Given the description of an element on the screen output the (x, y) to click on. 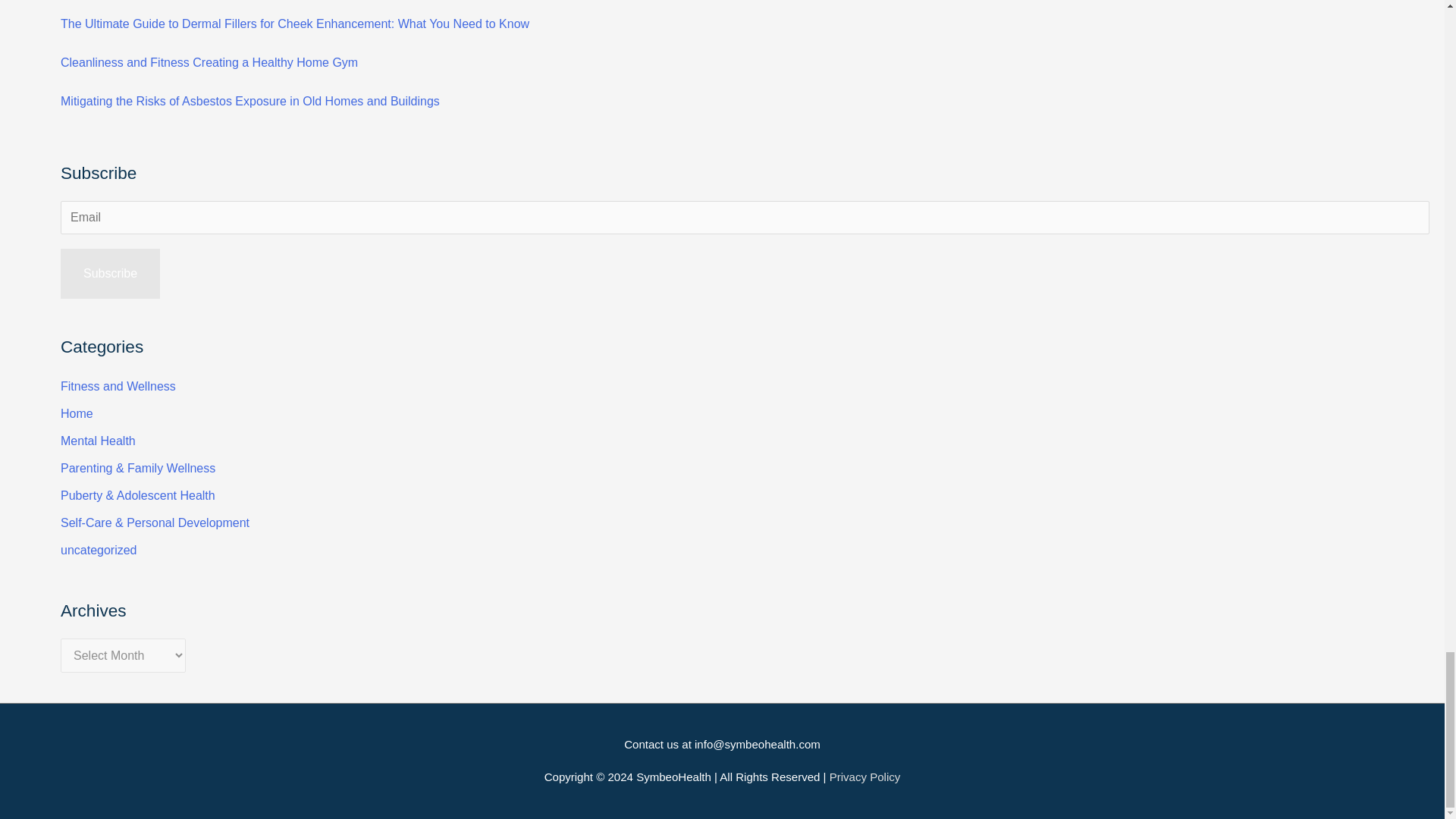
Mental Health (98, 440)
Cleanliness and Fitness Creating a Healthy Home Gym (209, 62)
Fitness and Wellness (118, 386)
Subscribe (110, 273)
Subscribe (110, 273)
Home (77, 413)
